Given the description of an element on the screen output the (x, y) to click on. 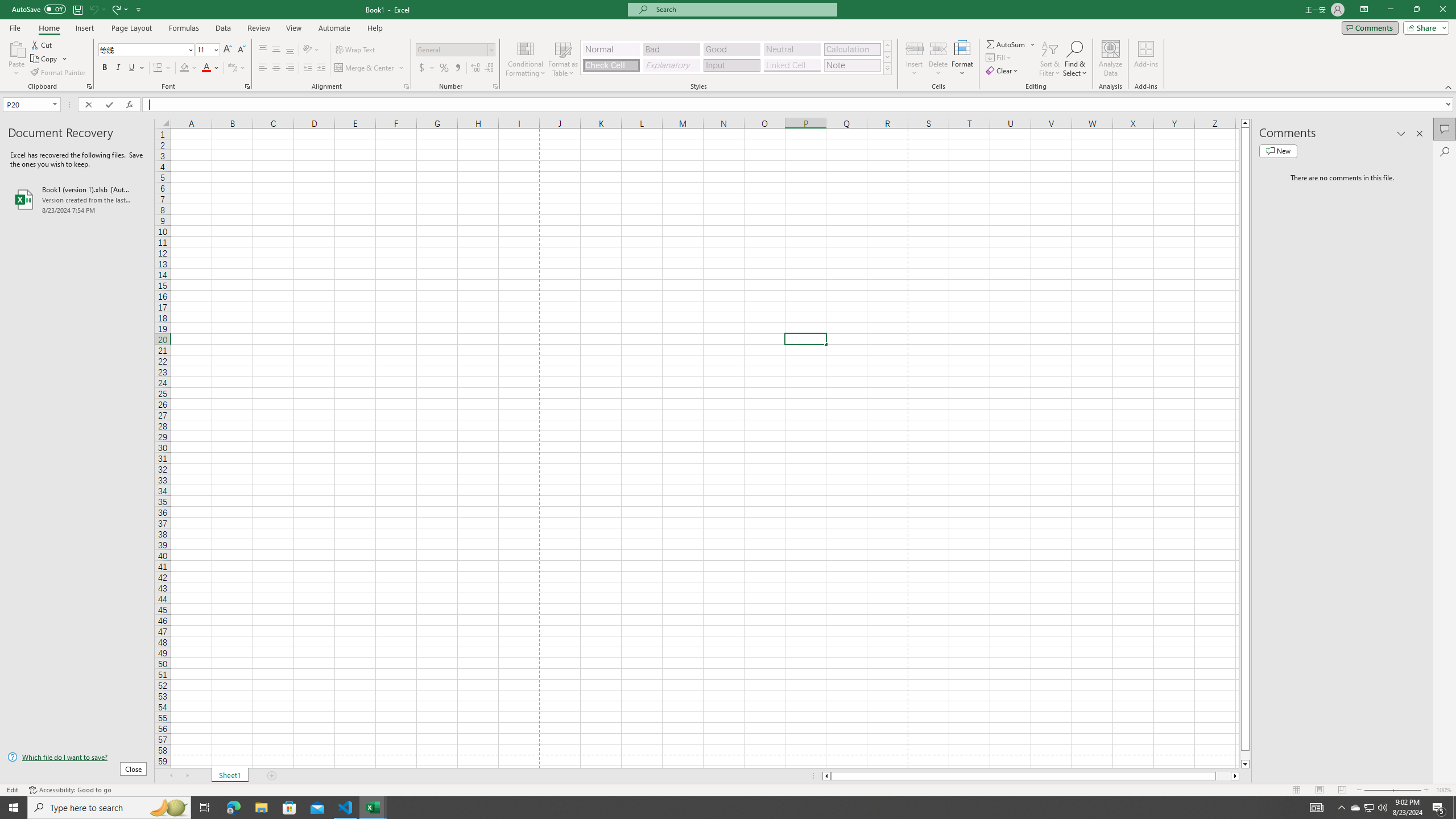
Number Format (455, 49)
Wrap Text (355, 49)
Insert Cells (914, 48)
Sum (1006, 44)
Clear (1003, 69)
Number Format (451, 49)
Font (147, 49)
Conditional Formatting (525, 58)
